Given the description of an element on the screen output the (x, y) to click on. 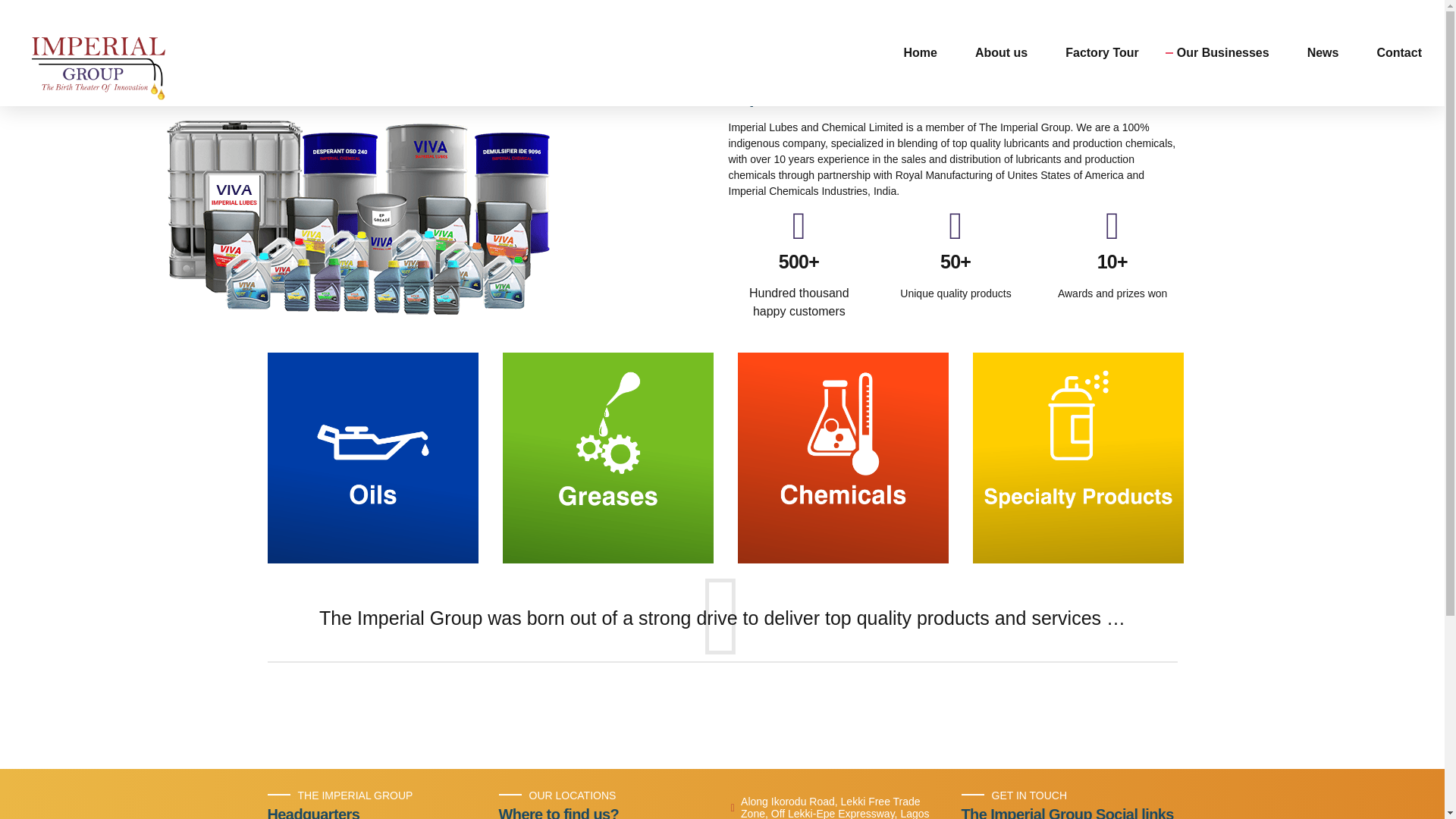
s3 (841, 457)
Factory Tour (1101, 53)
News (1323, 53)
Contact (1398, 53)
About us (1001, 53)
s2 (607, 457)
s4 (1077, 457)
5-2 (358, 217)
Home (919, 53)
s1 (371, 457)
Our Businesses (1222, 53)
